Given the description of an element on the screen output the (x, y) to click on. 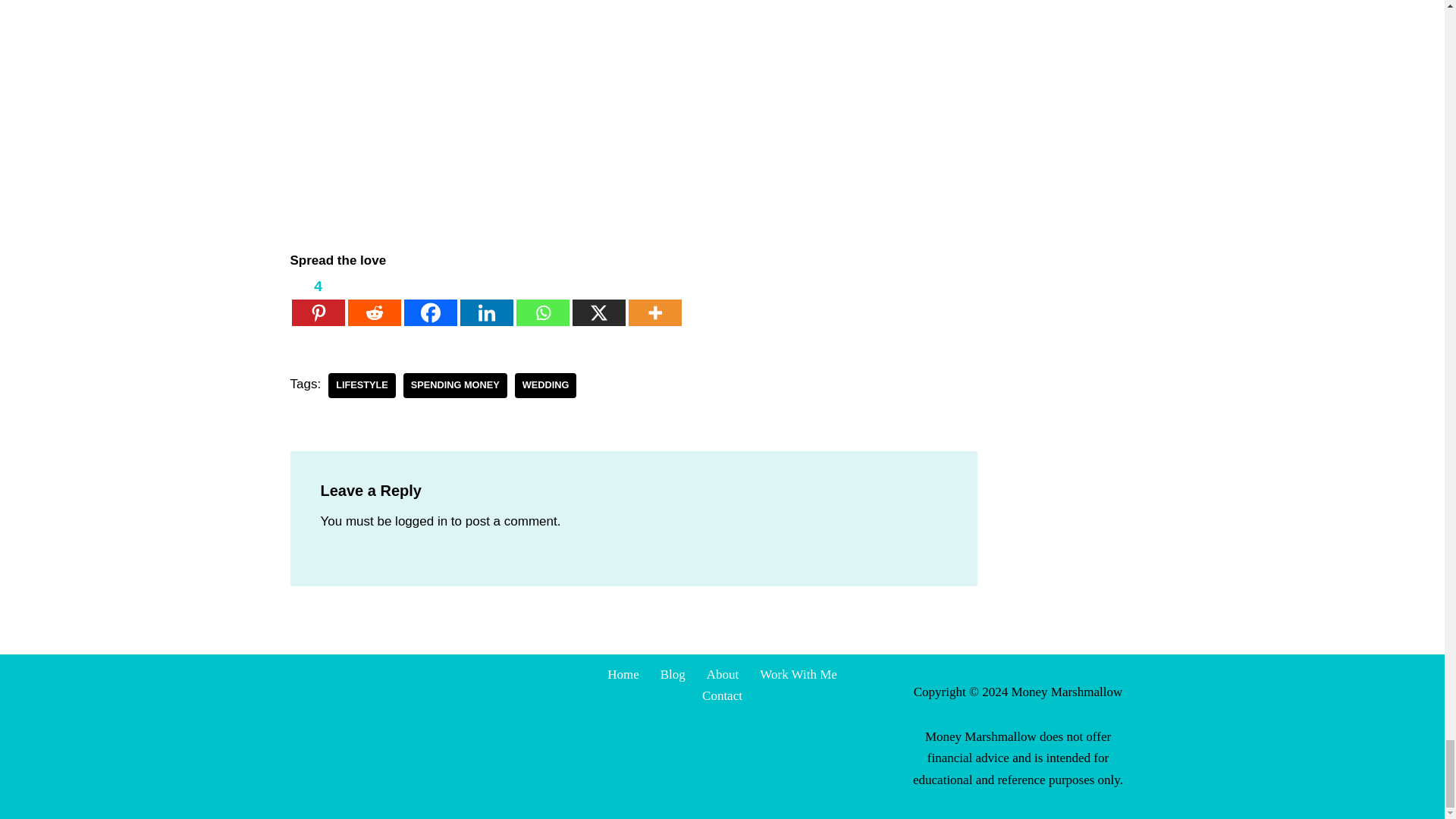
4 (317, 299)
Reddit (373, 299)
Facebook (430, 299)
Pinterest (317, 299)
